Given the description of an element on the screen output the (x, y) to click on. 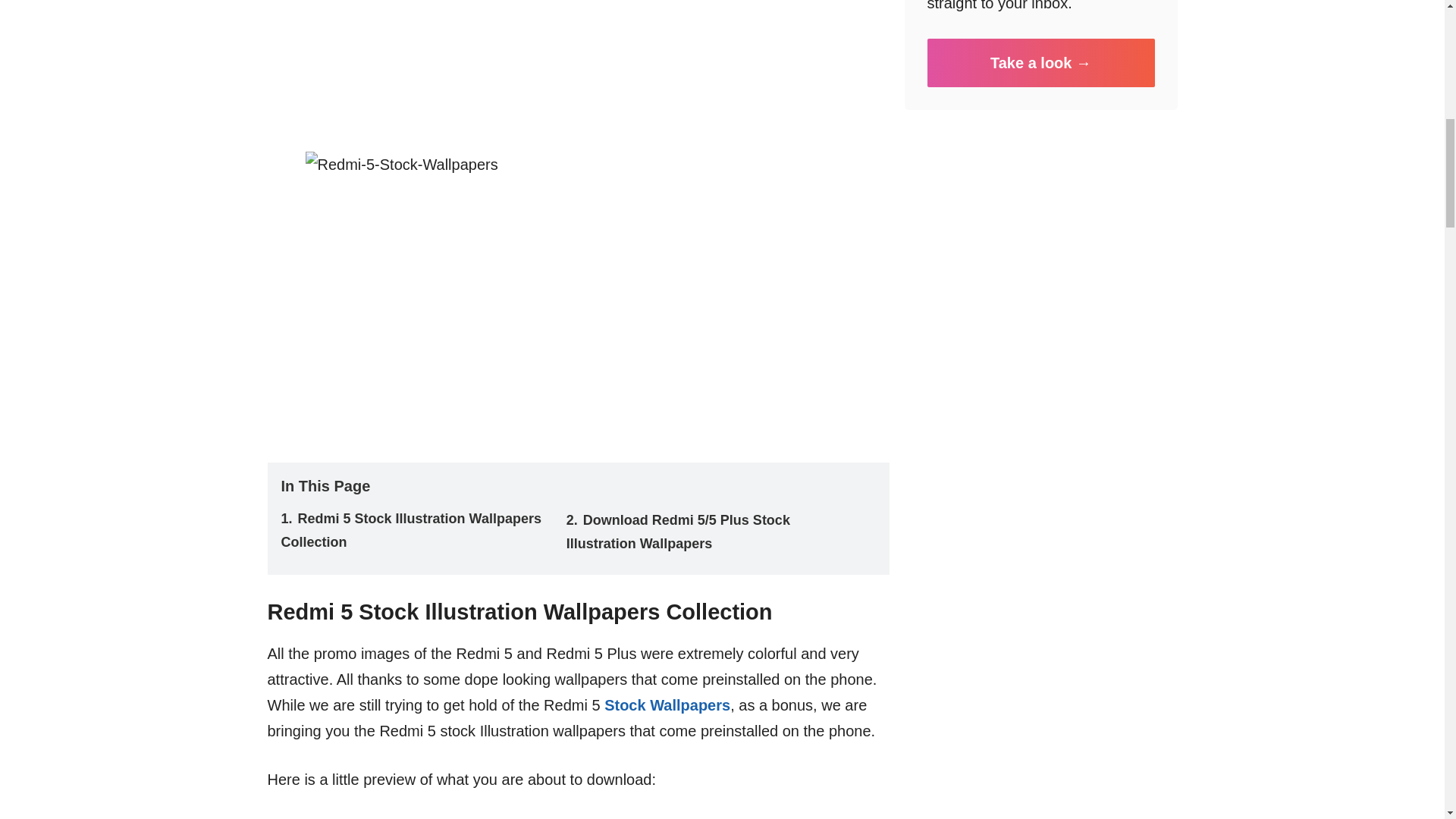
Stock Wallpapers (667, 704)
Stock Wallpapers (667, 704)
1. Redmi 5 Stock Illustration Wallpapers Collection (410, 530)
